Given the description of an element on the screen output the (x, y) to click on. 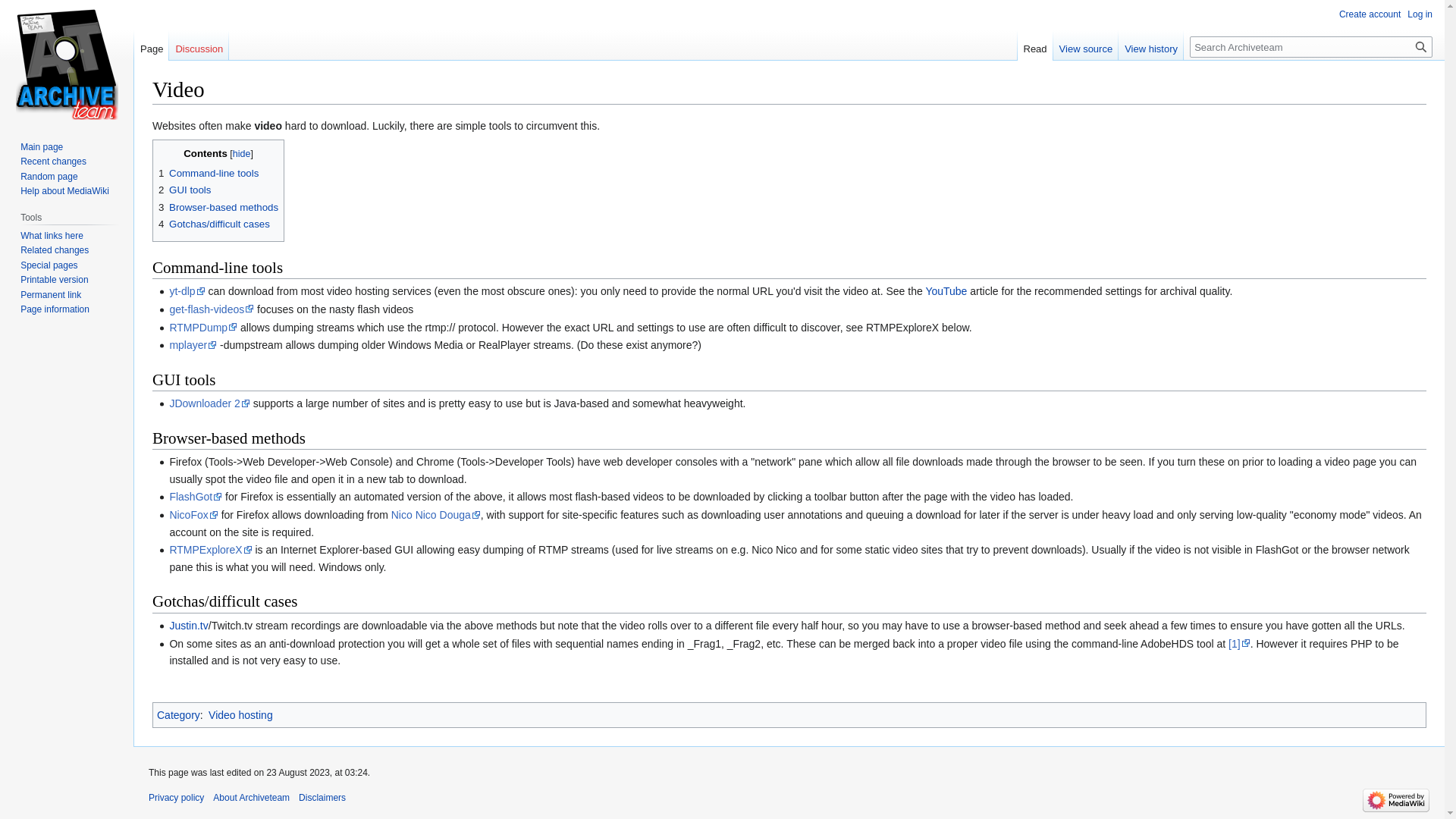
Random page (48, 176)
2 GUI tools (184, 189)
Related changes (54, 249)
Main page (41, 146)
RTMPDump (202, 327)
Special:Categories (178, 715)
YouTube (945, 291)
View source (1085, 45)
Search (1420, 46)
FlashGot (195, 496)
Visit the main page (66, 60)
Nico Nico Douga (435, 514)
Search the pages for this text (1420, 46)
mplayer (192, 345)
